Given the description of an element on the screen output the (x, y) to click on. 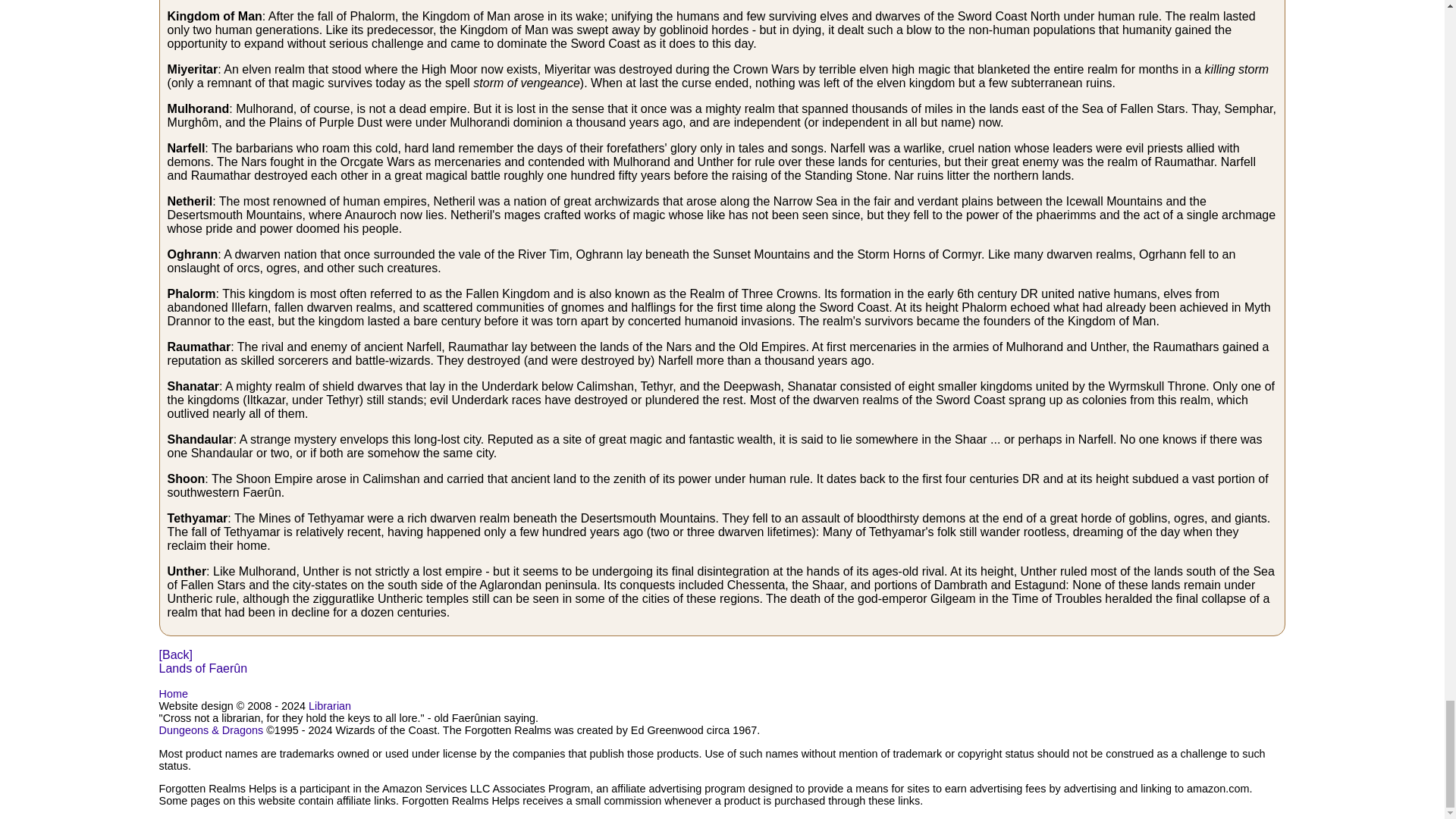
Librarian (329, 705)
Home (172, 693)
